Given the description of an element on the screen output the (x, y) to click on. 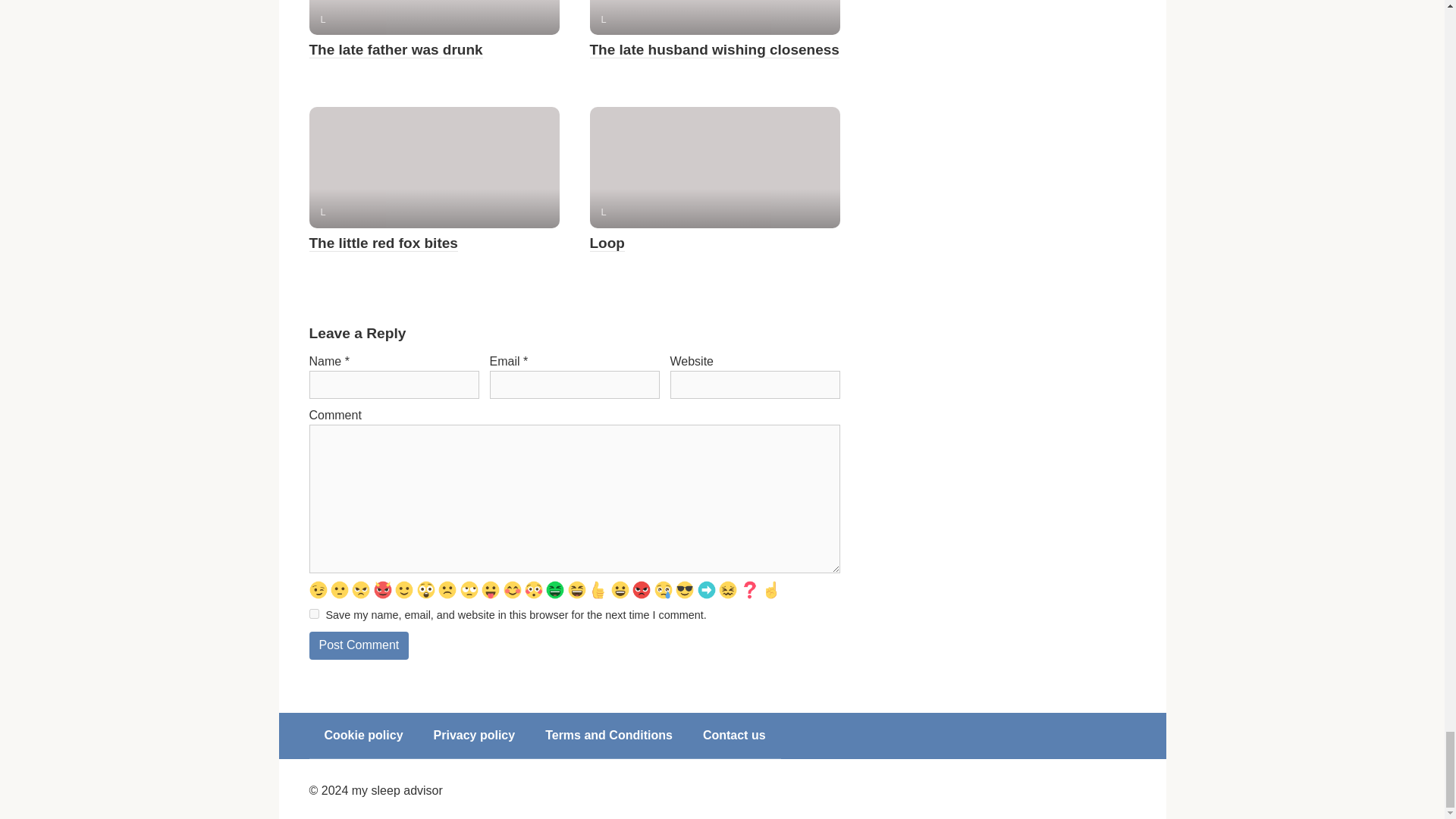
Post Comment (358, 645)
yes (313, 614)
